Given the description of an element on the screen output the (x, y) to click on. 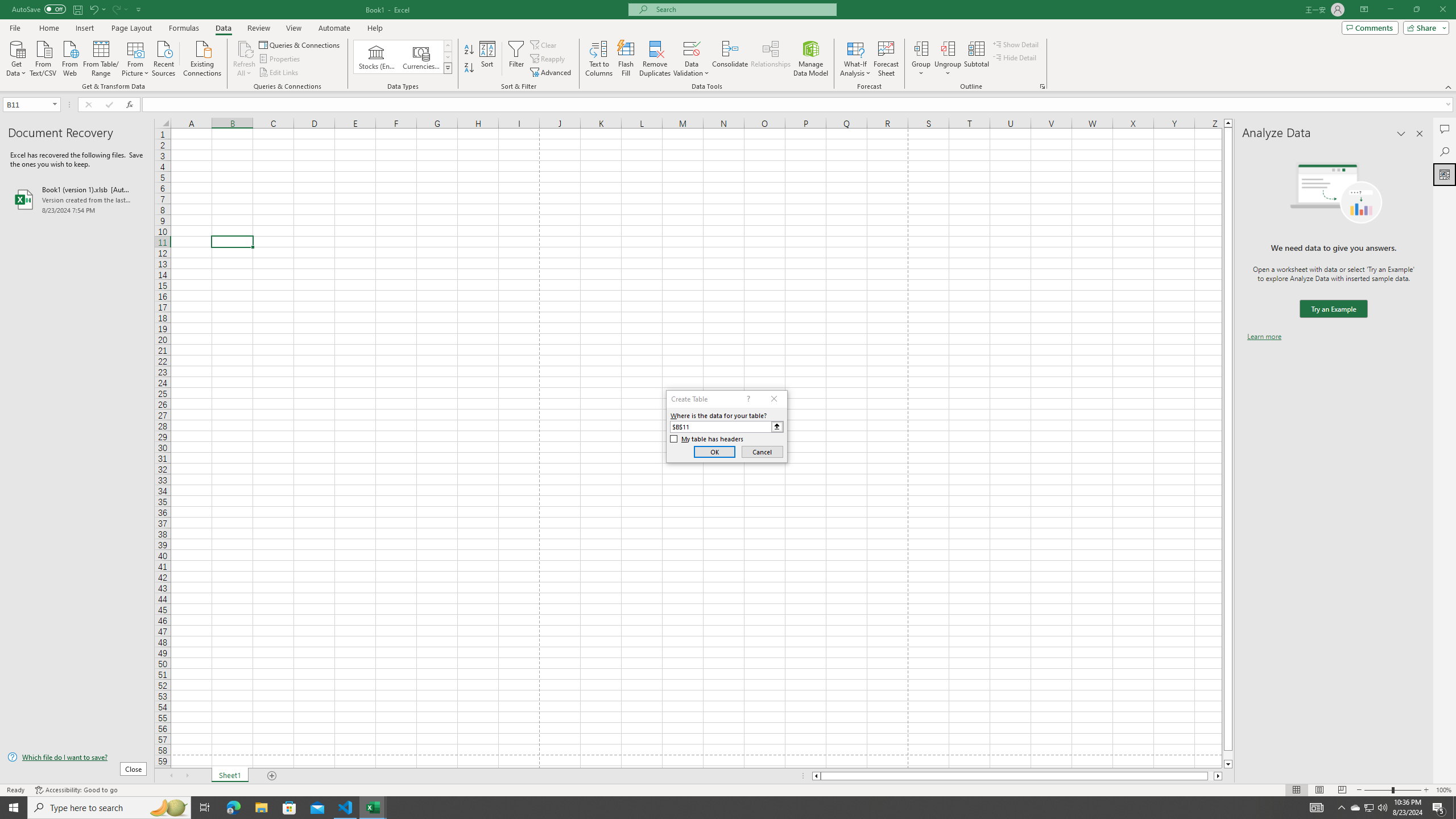
Analyze Data (1444, 173)
From Table/Range (100, 57)
Manage Data Model (810, 58)
Group... (921, 48)
Close pane (1419, 133)
Refresh All (244, 48)
Currencies (English) (420, 56)
From Text/CSV (43, 57)
